Given the description of an element on the screen output the (x, y) to click on. 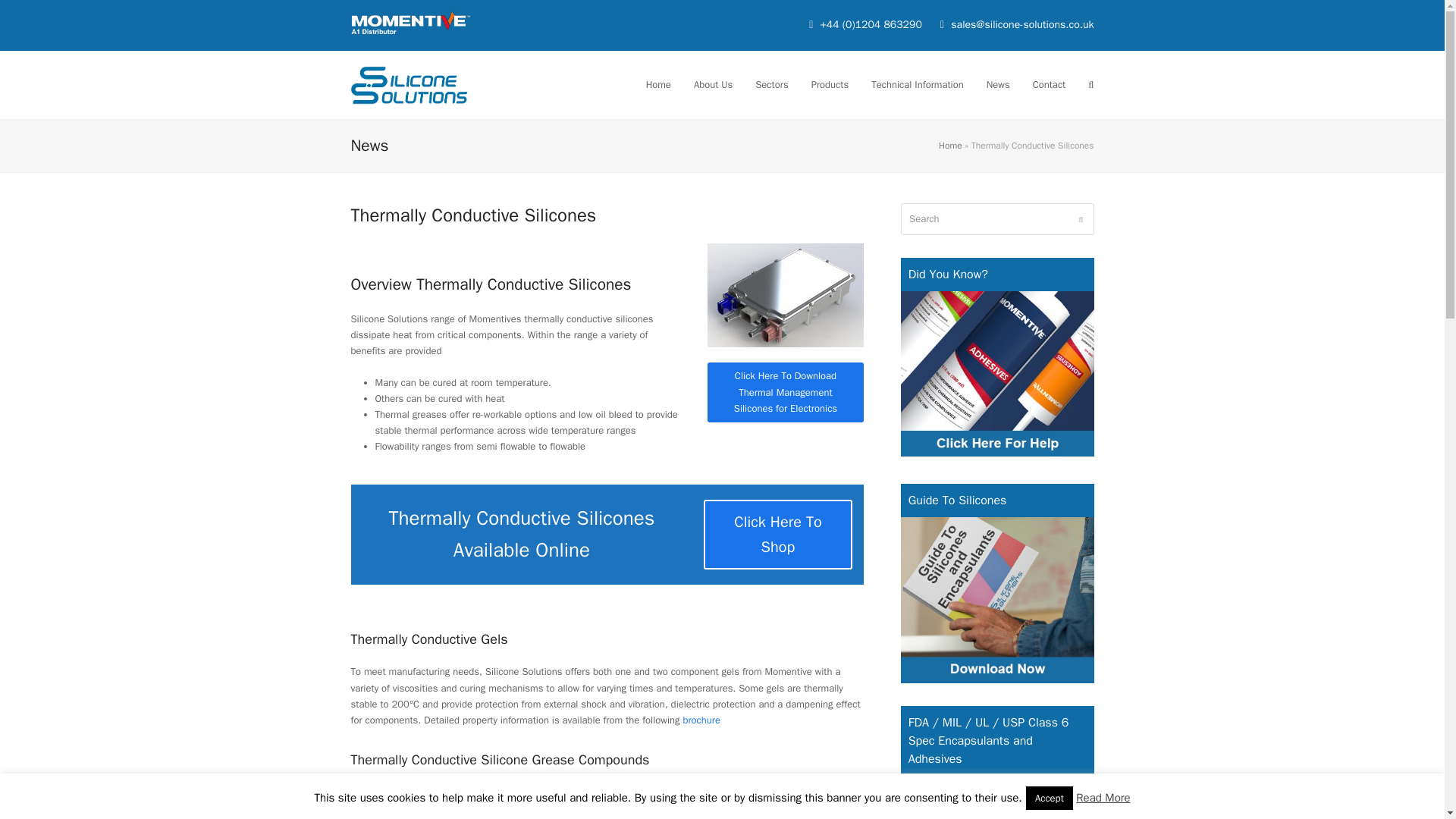
Home (658, 85)
Sectors (771, 85)
Overview Thermal Potting Materials (785, 295)
About Us (713, 85)
Products (829, 85)
Technical Information (917, 85)
